Given the description of an element on the screen output the (x, y) to click on. 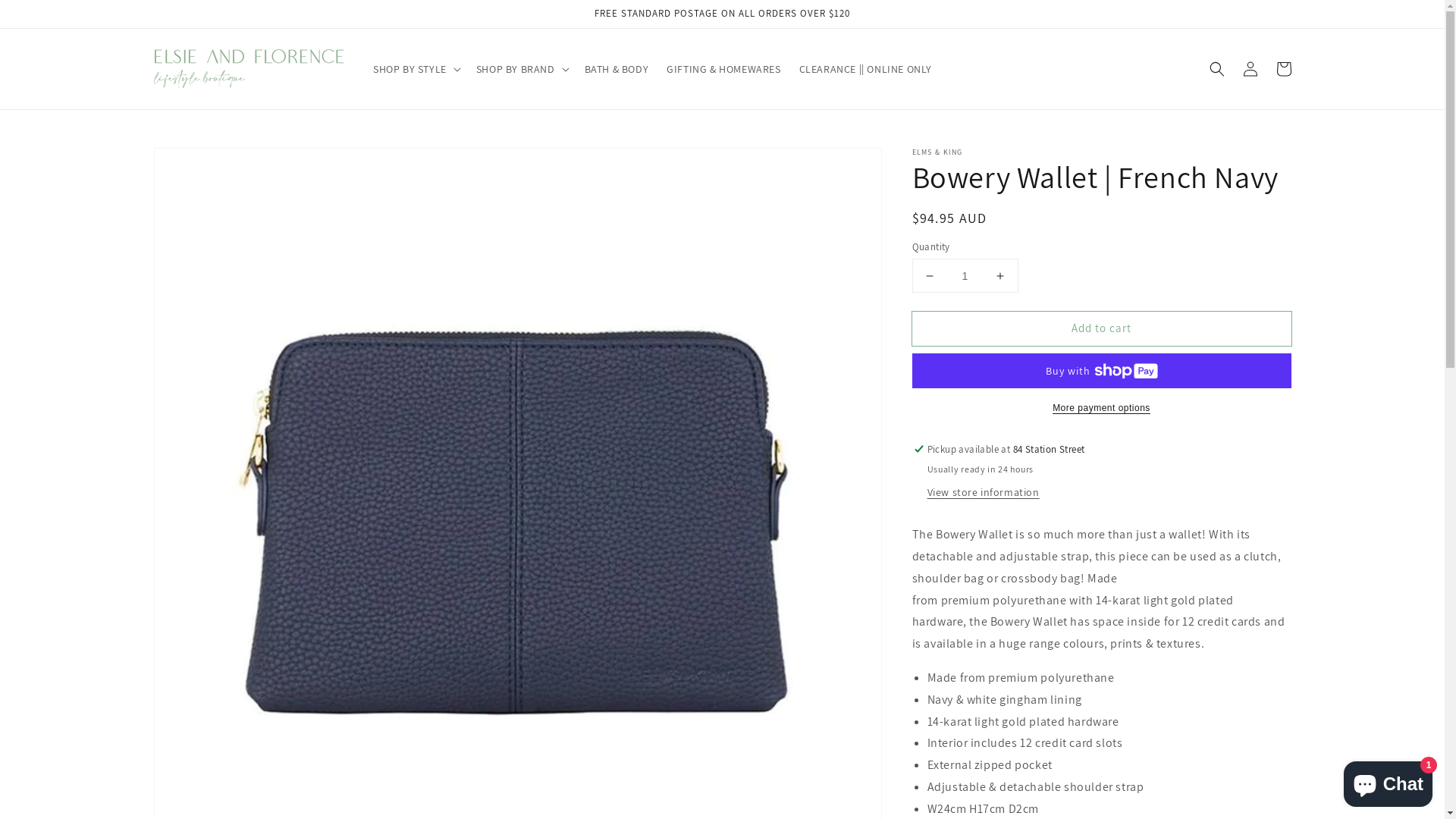
Decrease quantity for Bowery Wallet | French Navy Element type: text (930, 275)
View store information Element type: text (982, 492)
Shopify online store chat Element type: hover (1388, 780)
GIFTING & HOMEWARES Element type: text (723, 68)
Skip to product information Element type: text (198, 164)
BATH & BODY Element type: text (616, 68)
CLEARANCE || ONLINE ONLY Element type: text (865, 68)
More payment options Element type: text (1100, 407)
Add to cart Element type: text (1100, 328)
Cart Element type: text (1282, 68)
Increase quantity for Bowery Wallet | French Navy Element type: text (999, 275)
Log in Element type: text (1249, 68)
